Given the description of an element on the screen output the (x, y) to click on. 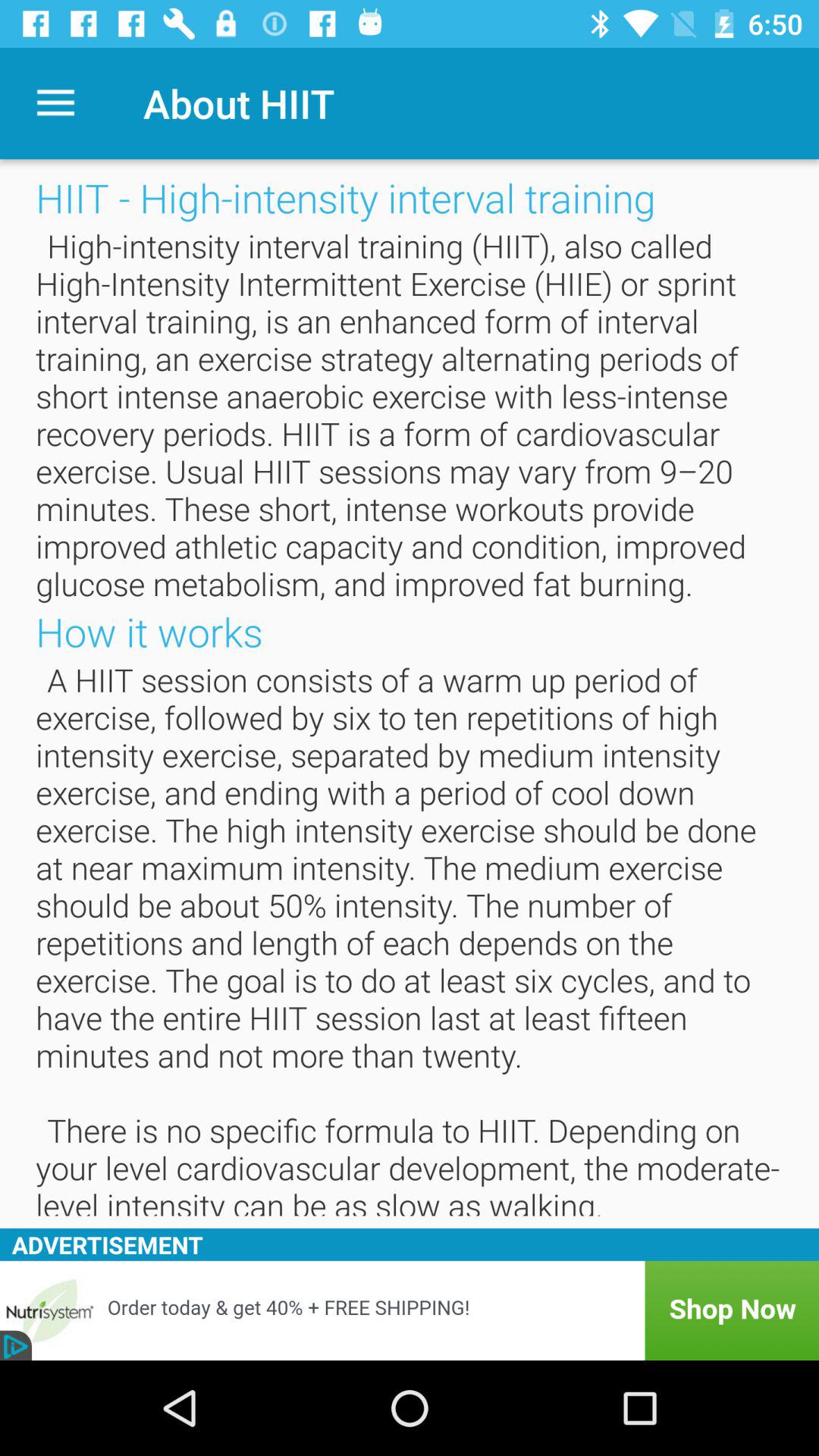
offer box (409, 1310)
